Given the description of an element on the screen output the (x, y) to click on. 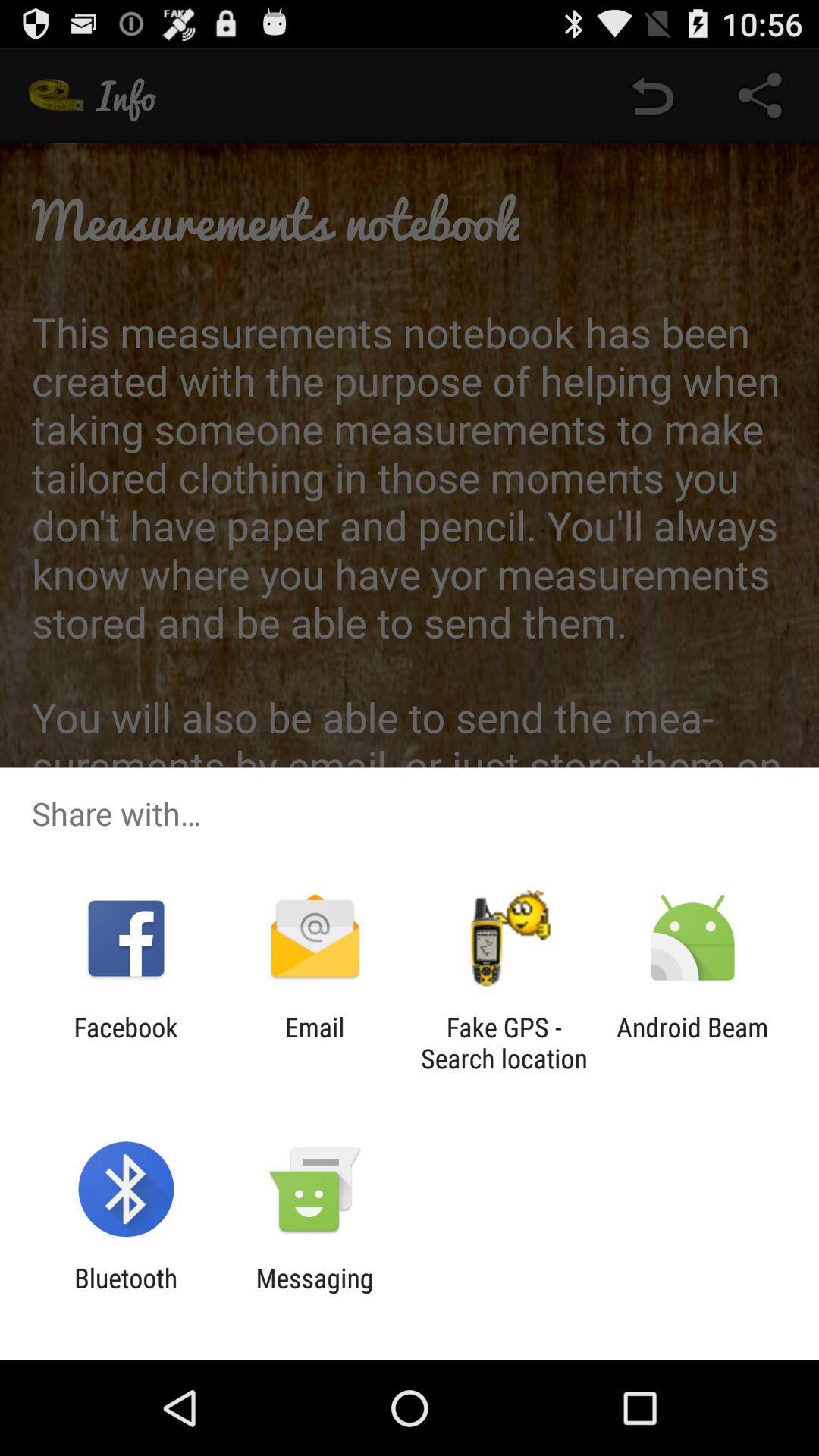
launch the item next to the facebook (314, 1042)
